Given the description of an element on the screen output the (x, y) to click on. 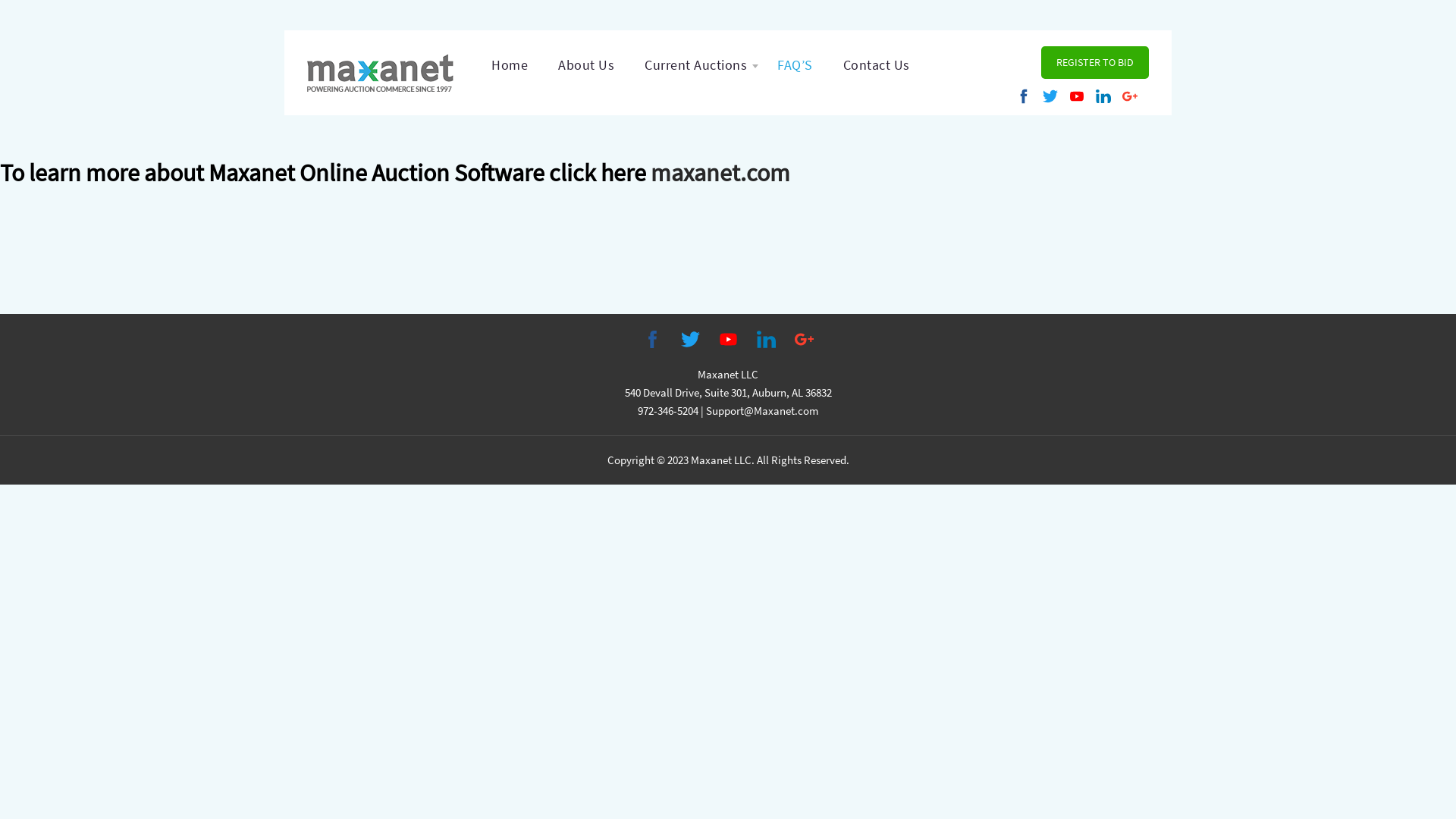
REGISTER TO BID Element type: text (1094, 62)
Maxanet Element type: hover (380, 71)
maxanet.com Element type: text (720, 172)
Contact Us Element type: text (876, 64)
Home Element type: text (509, 64)
Current Auctions Element type: text (695, 64)
About Us Element type: text (586, 64)
Support@Maxanet.com Element type: text (762, 410)
